Given the description of an element on the screen output the (x, y) to click on. 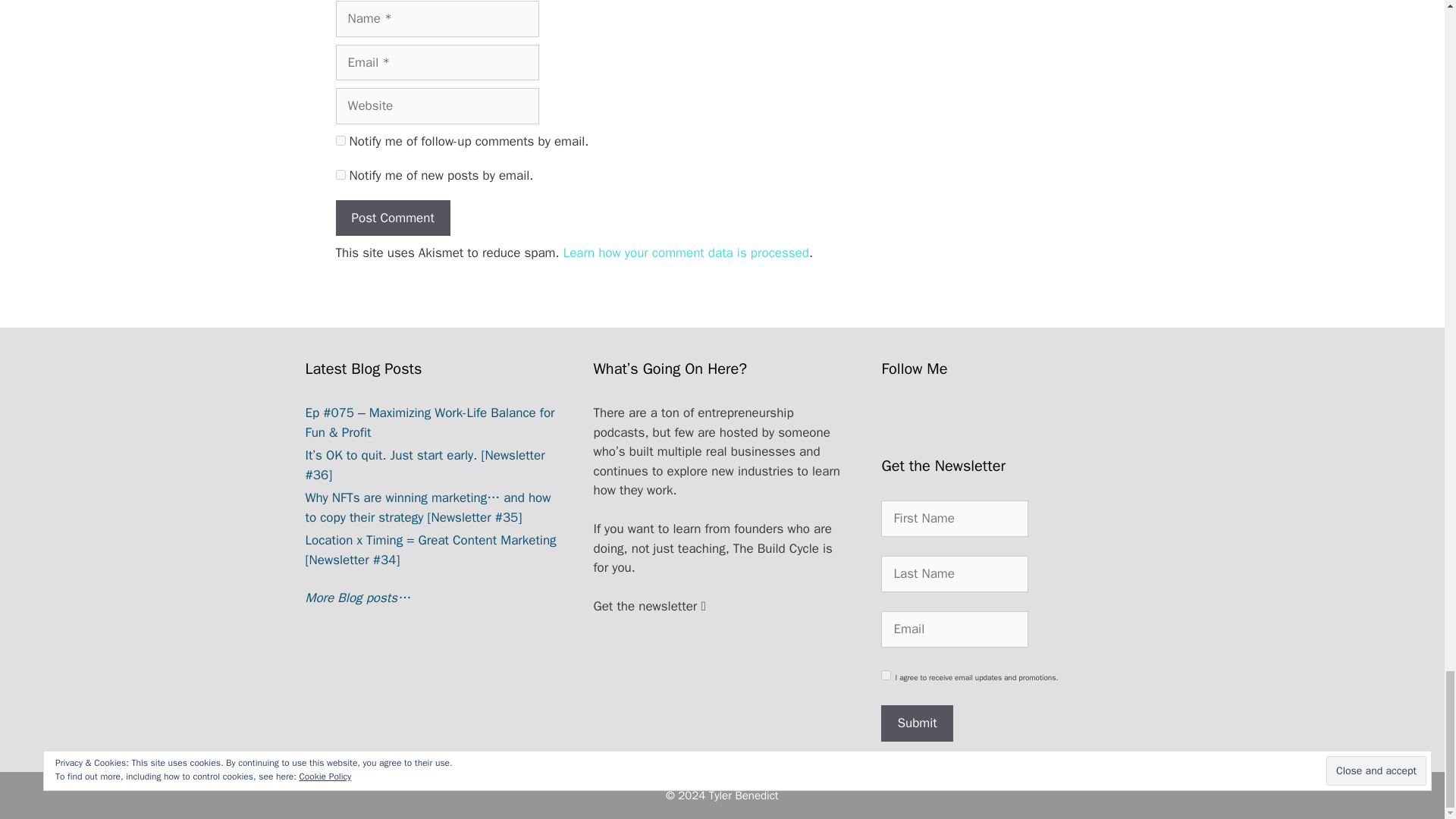
subscribe (339, 174)
Learn how your comment data is processed (686, 252)
subscribe (339, 140)
1 (885, 675)
YouTube (980, 421)
Facebook (898, 421)
Post Comment (391, 217)
Twitter (1021, 421)
Instagram (939, 421)
Post Comment (391, 217)
